Given the description of an element on the screen output the (x, y) to click on. 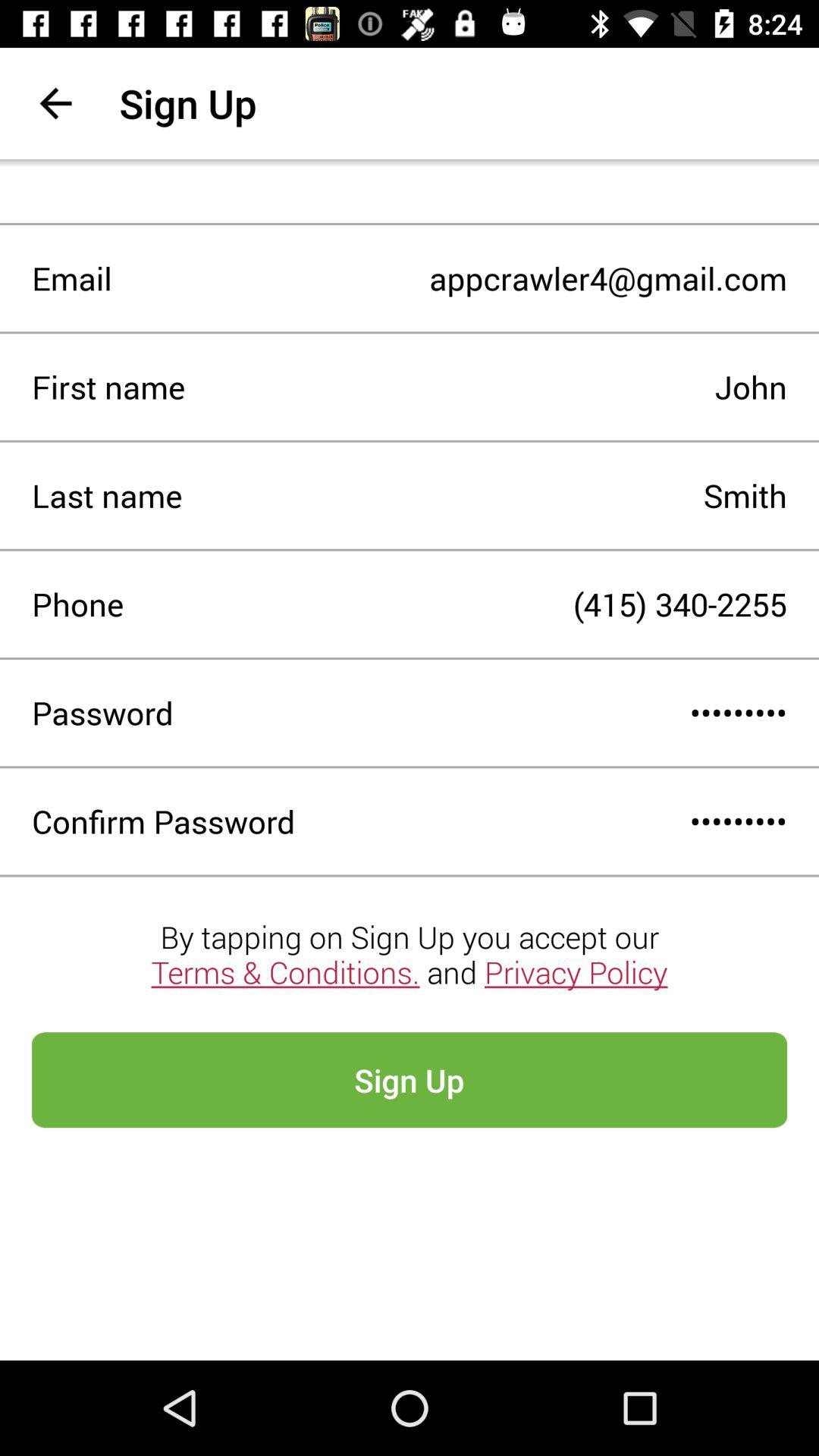
flip until (415) 340-2255 icon (455, 603)
